Given the description of an element on the screen output the (x, y) to click on. 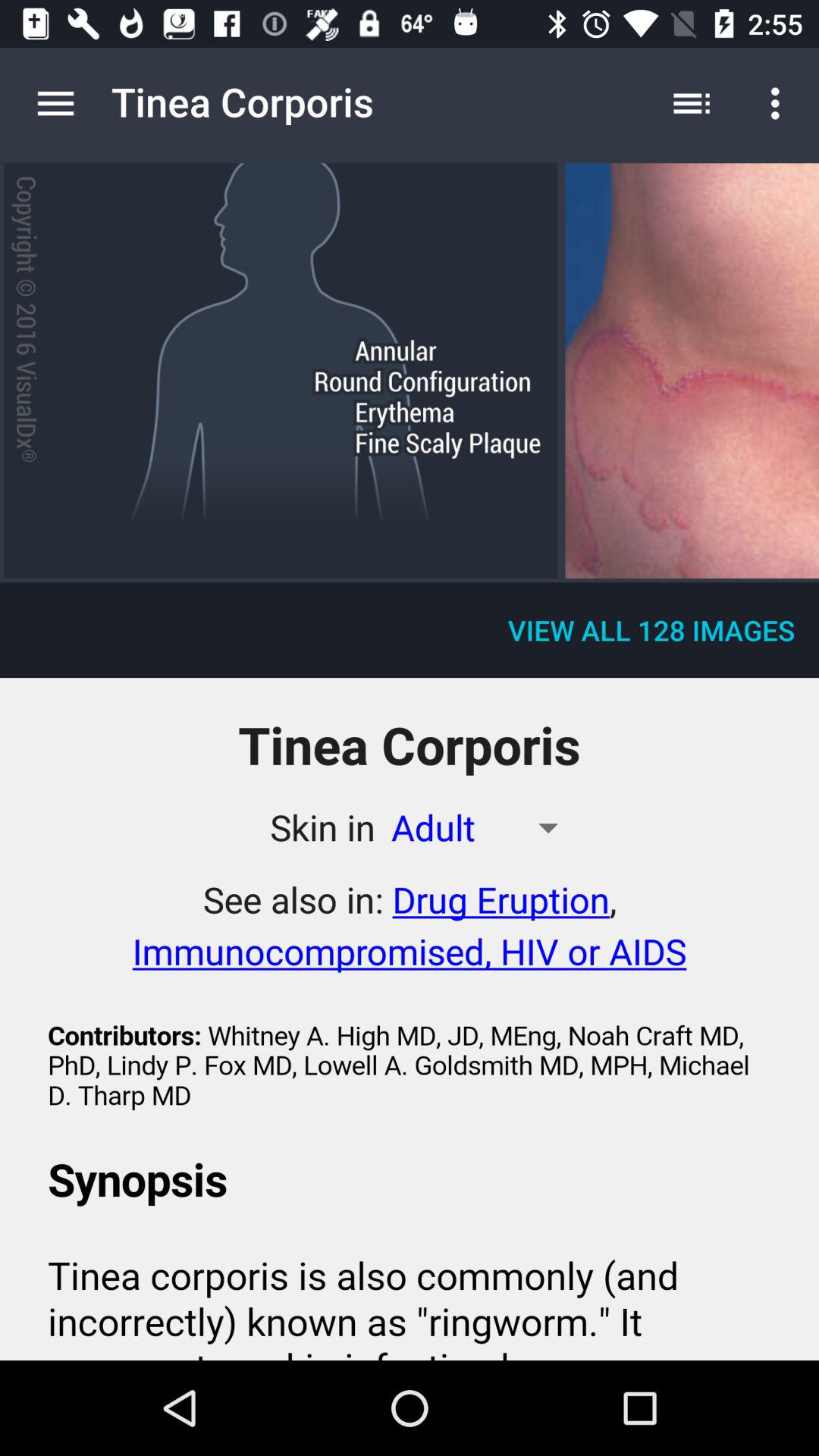
view image (692, 370)
